Given the description of an element on the screen output the (x, y) to click on. 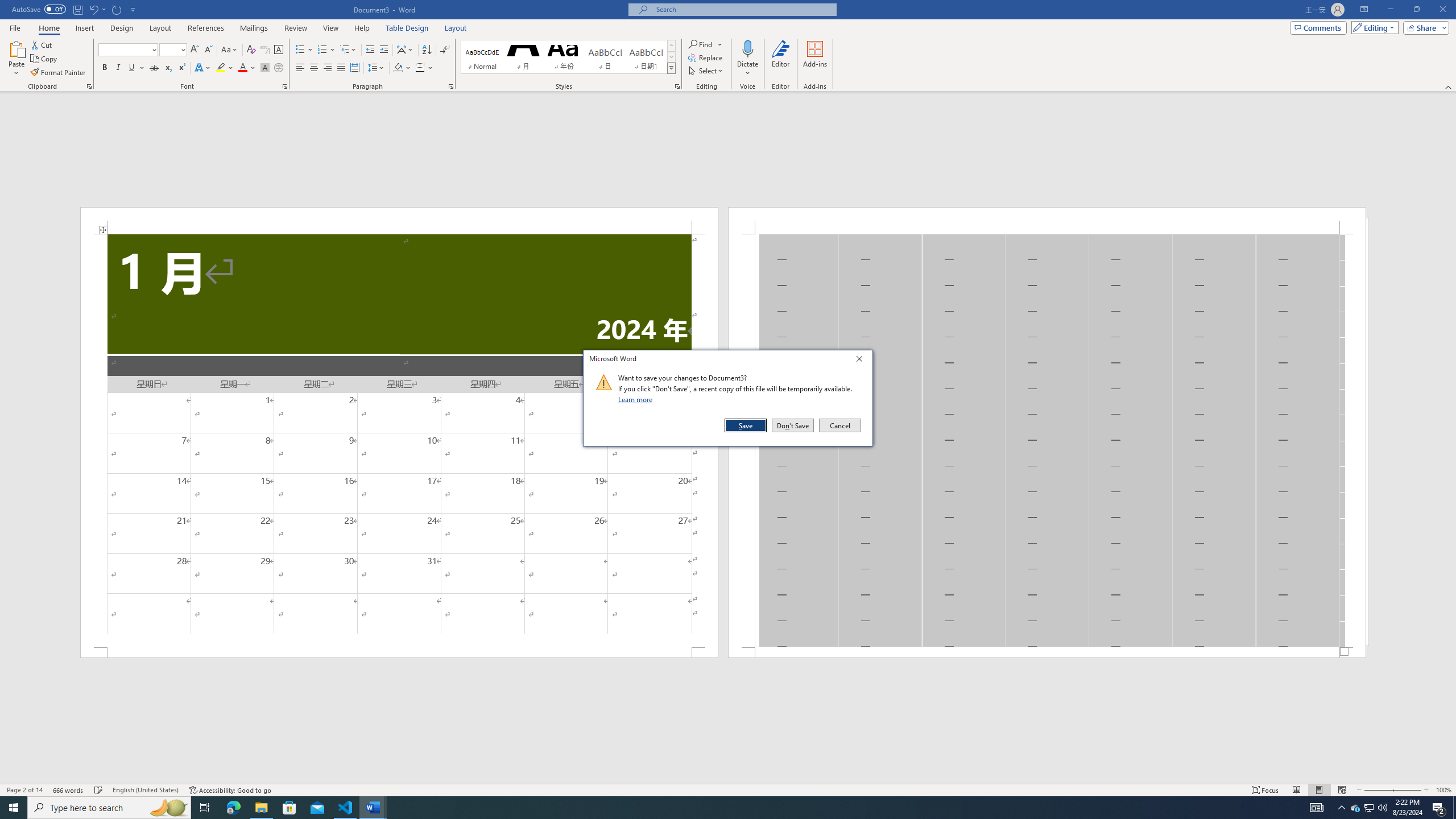
Don't Save (792, 425)
